Given the description of an element on the screen output the (x, y) to click on. 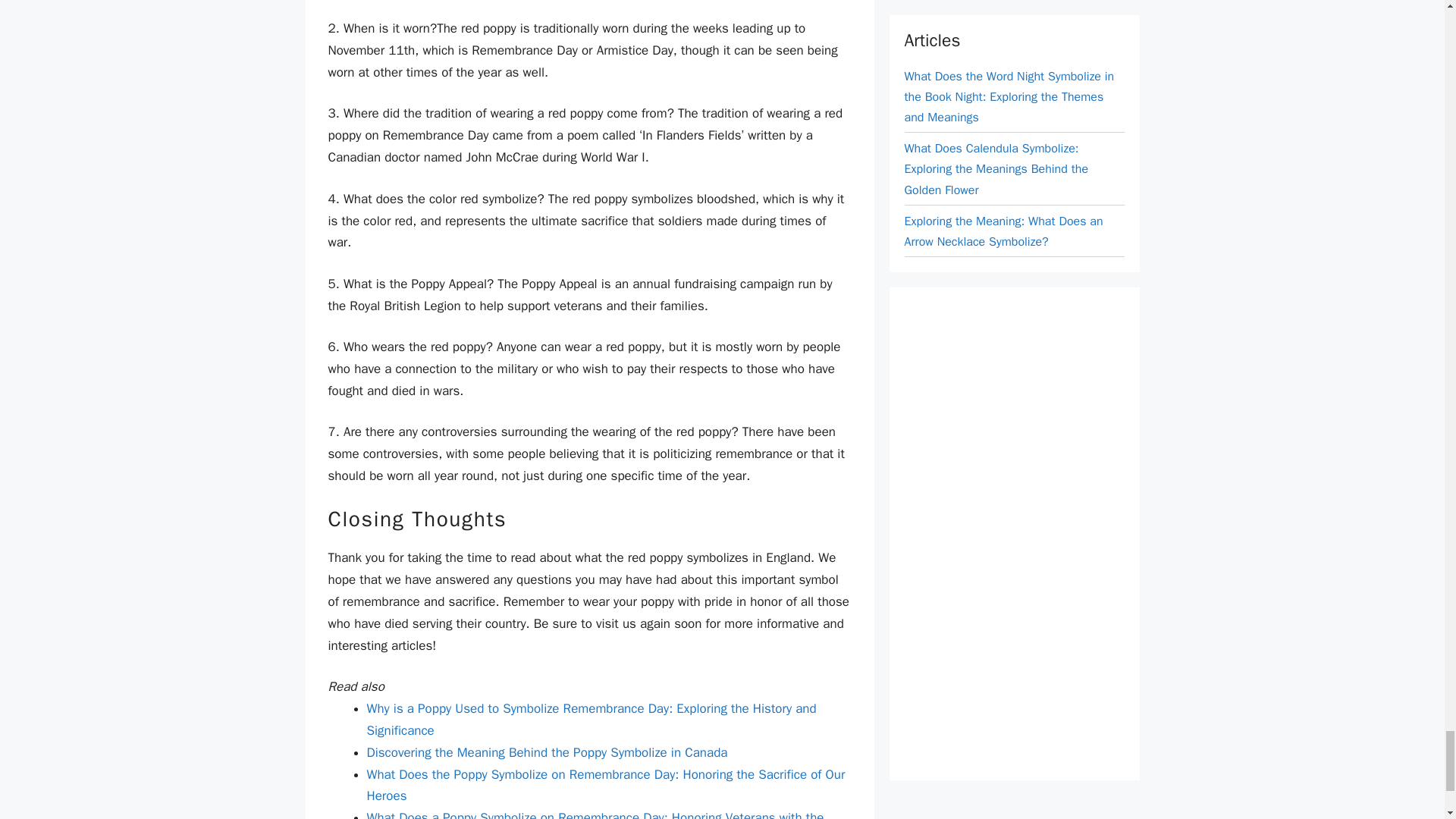
Discovering the Meaning Behind the Poppy Symbolize in Canada (547, 752)
